Given the description of an element on the screen output the (x, y) to click on. 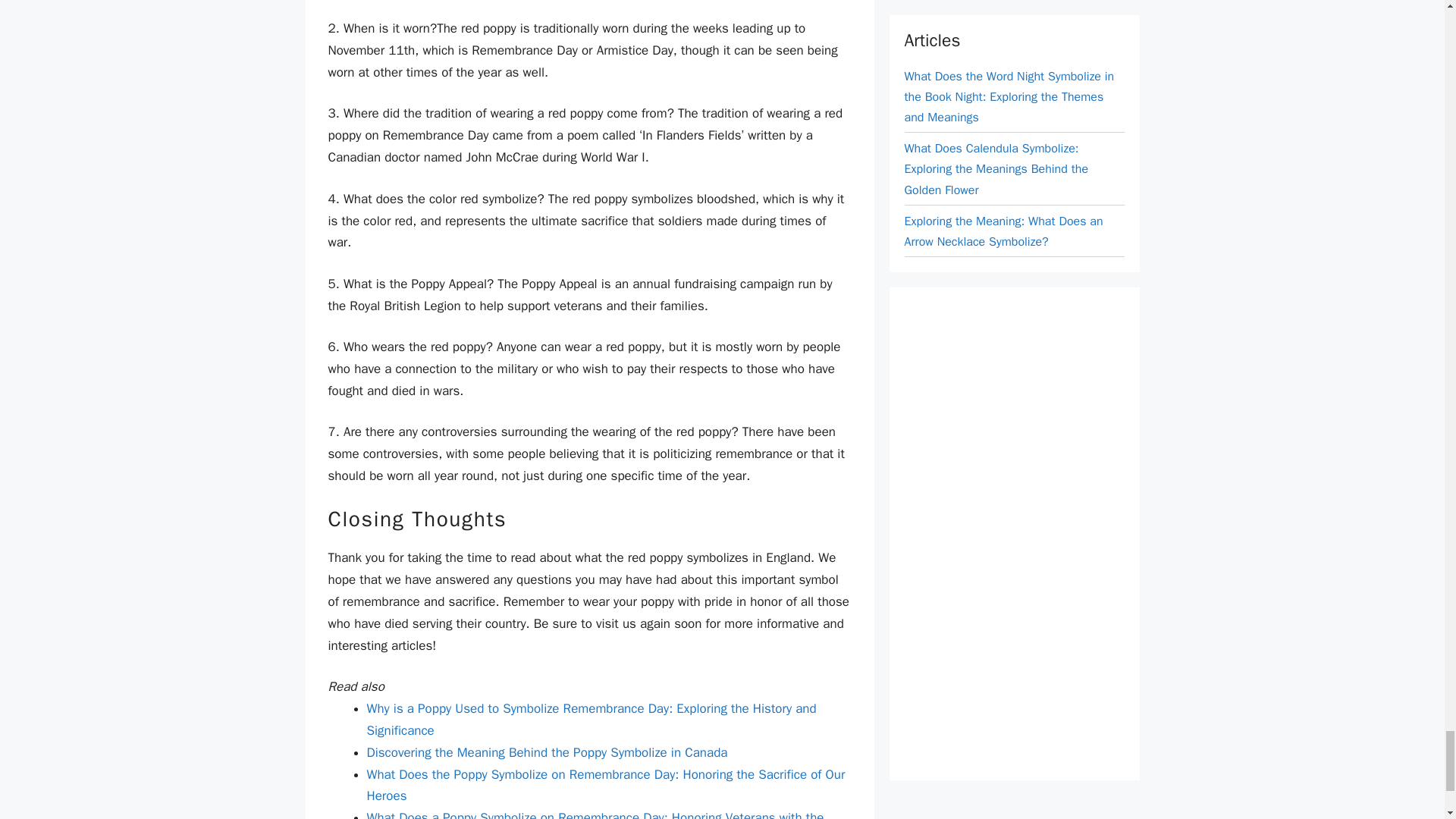
Discovering the Meaning Behind the Poppy Symbolize in Canada (547, 752)
